Given the description of an element on the screen output the (x, y) to click on. 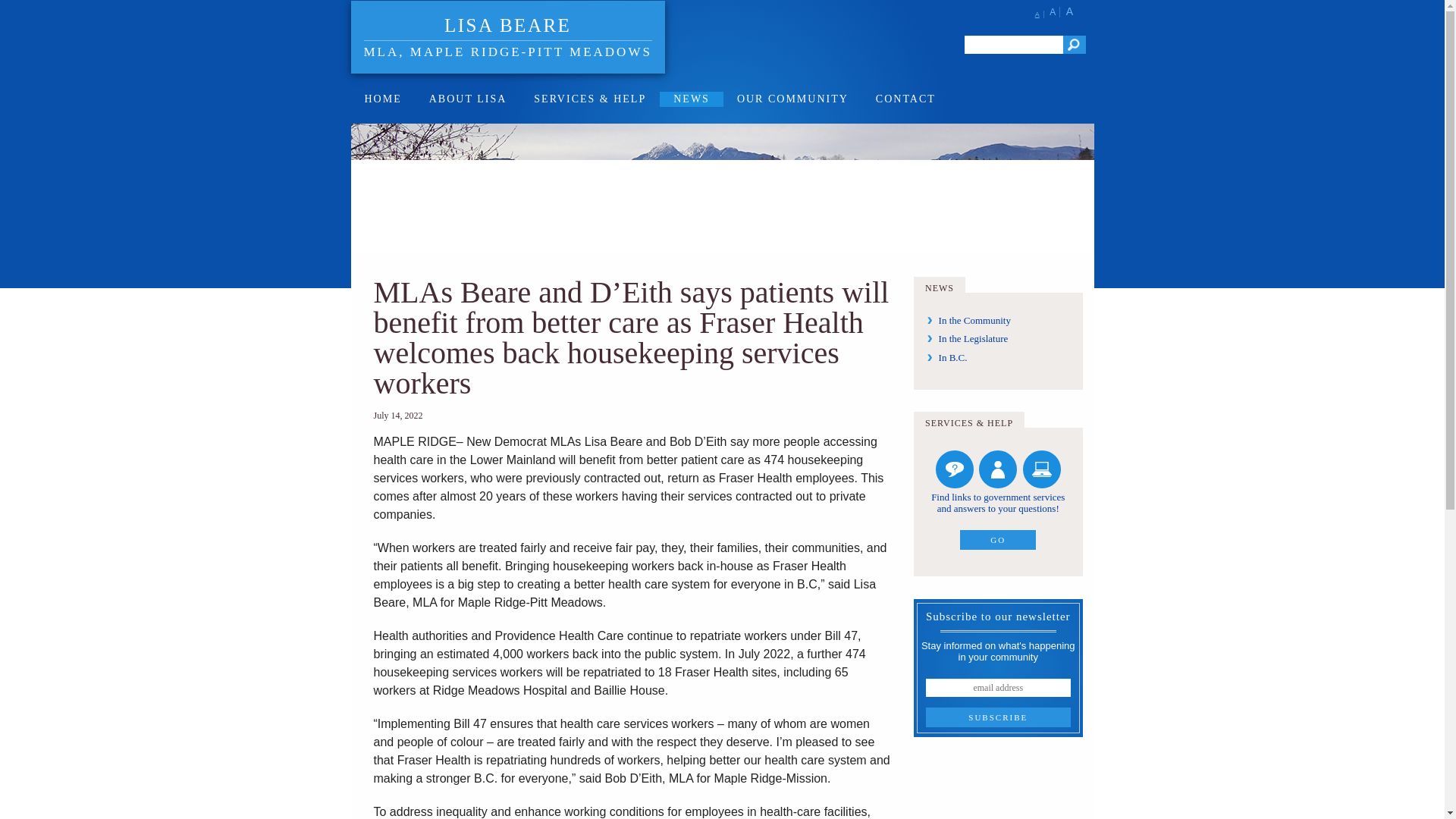
LISA BEARE (507, 25)
NEWS (691, 99)
July 14, 2022 (397, 415)
Subscribe (998, 717)
In the Community (974, 319)
View all posts filed under In B.C. (953, 357)
View all posts filed under In the Constituency (974, 319)
Go (1074, 45)
MLA, MAPLE RIDGE-PITT MEADOWS (508, 49)
